Given the description of an element on the screen output the (x, y) to click on. 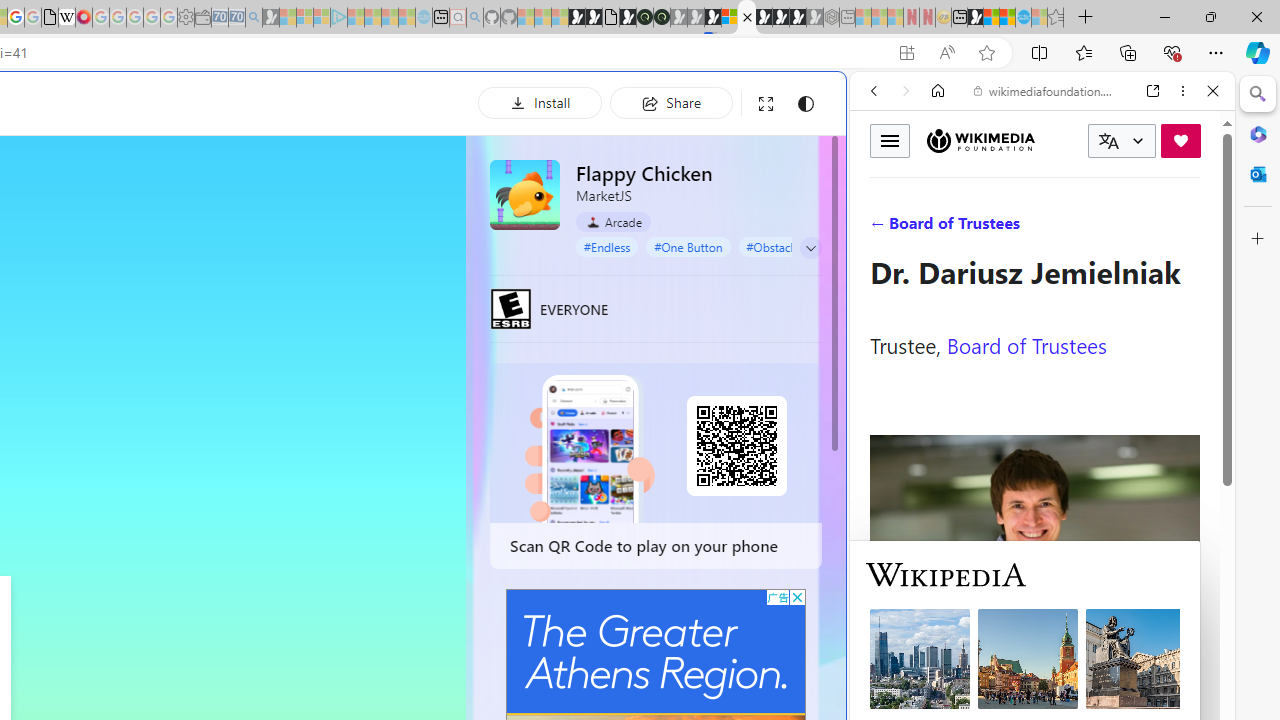
Search Filter, IMAGES (939, 228)
EVERYONE (511, 308)
Arcade (613, 222)
Sign in to your account (729, 17)
